Given the description of an element on the screen output the (x, y) to click on. 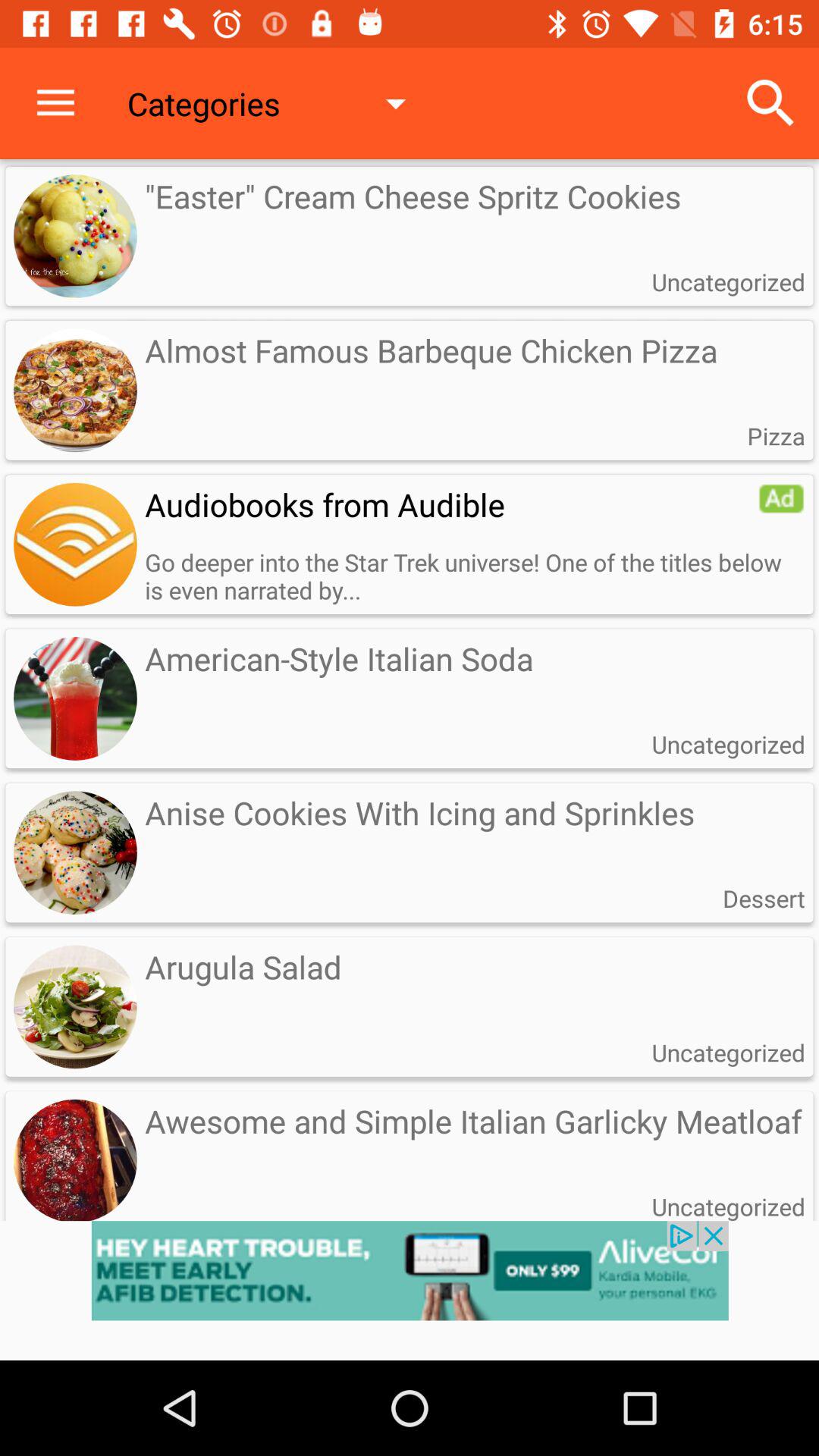
app of the audiobooks (75, 544)
